Given the description of an element on the screen output the (x, y) to click on. 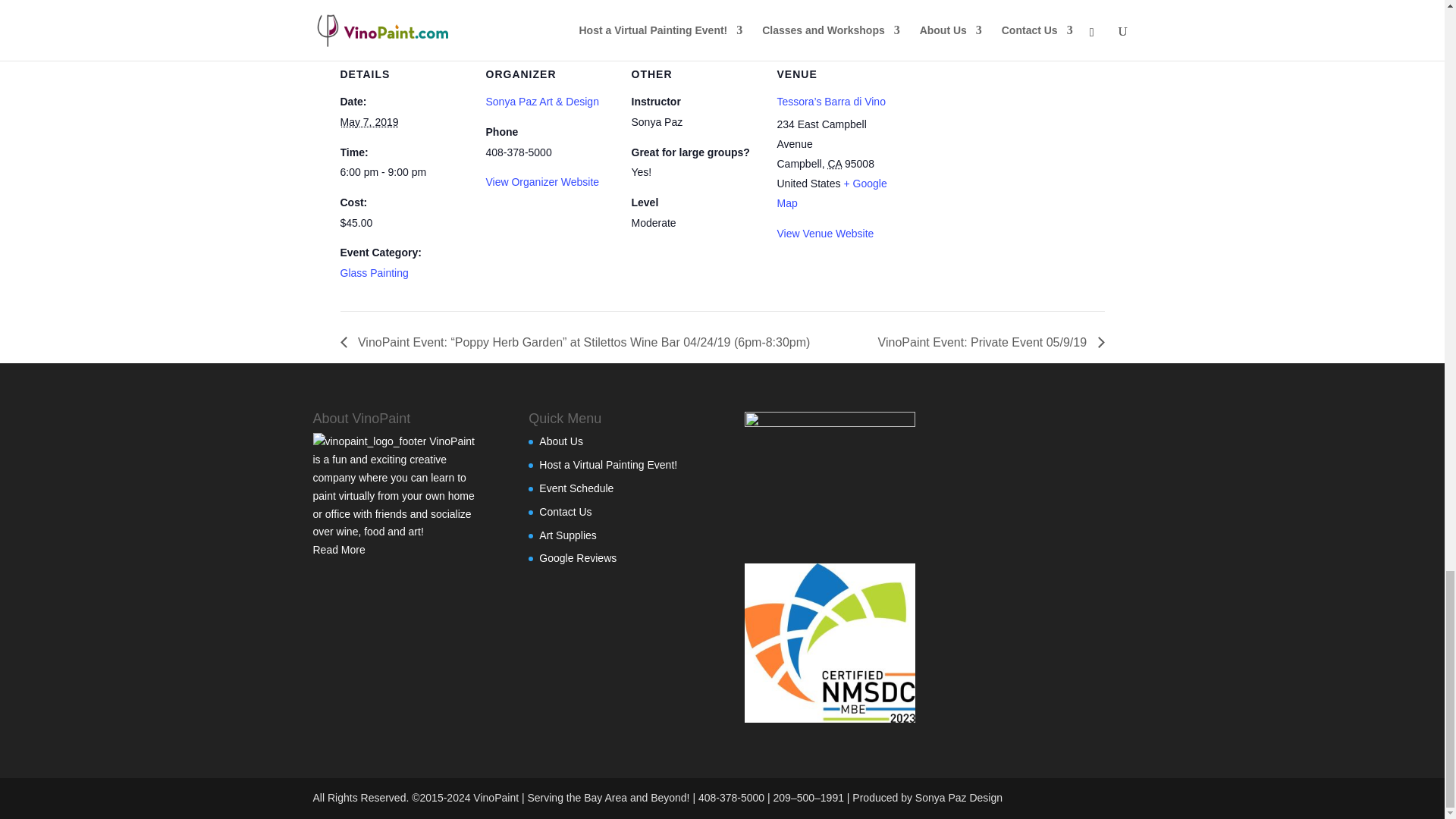
2019-05-07 (403, 172)
Click to view a Google Map (831, 193)
California (834, 163)
2019-05-07 (368, 121)
Glass Painting (373, 272)
